Given the description of an element on the screen output the (x, y) to click on. 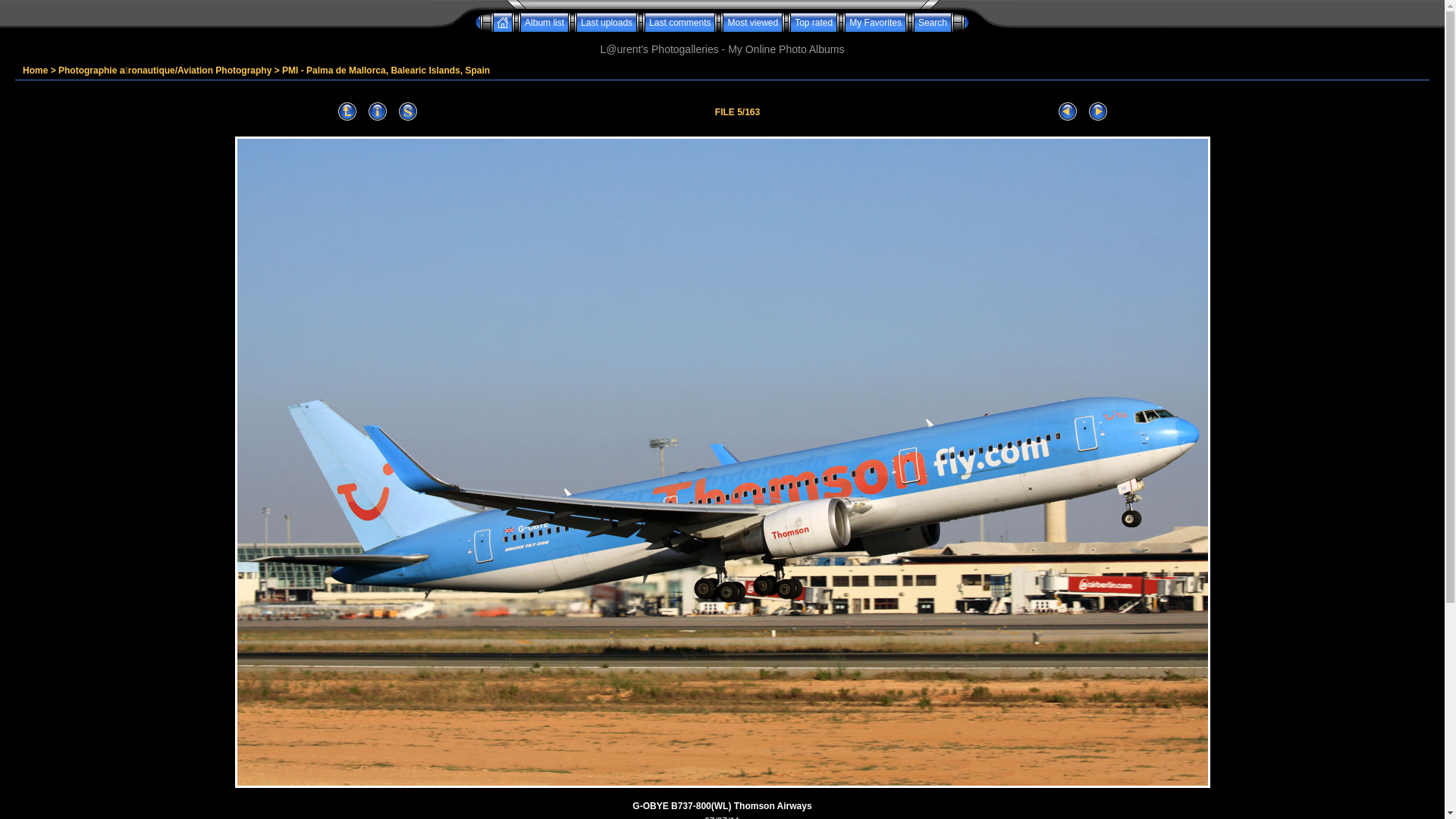
Home Element type: text (34, 70)
Search Element type: text (932, 21)
My Favorites Element type: text (875, 21)
Top rated Element type: text (813, 21)
Return to the thumbnail page Element type: hover (347, 111)
Last uploads Element type: text (606, 21)
Last comments Element type: text (679, 21)
See previous file Element type: hover (1067, 111)
Album list Element type: text (543, 21)
Most viewed Element type: text (752, 21)
Slideshow Element type: hover (407, 111)
See next file Element type: hover (1097, 111)
Display/hide file information Element type: hover (377, 111)
PMI - Palma de Mallorca, Balearic Islands, Spain Element type: text (385, 70)
